Given the description of an element on the screen output the (x, y) to click on. 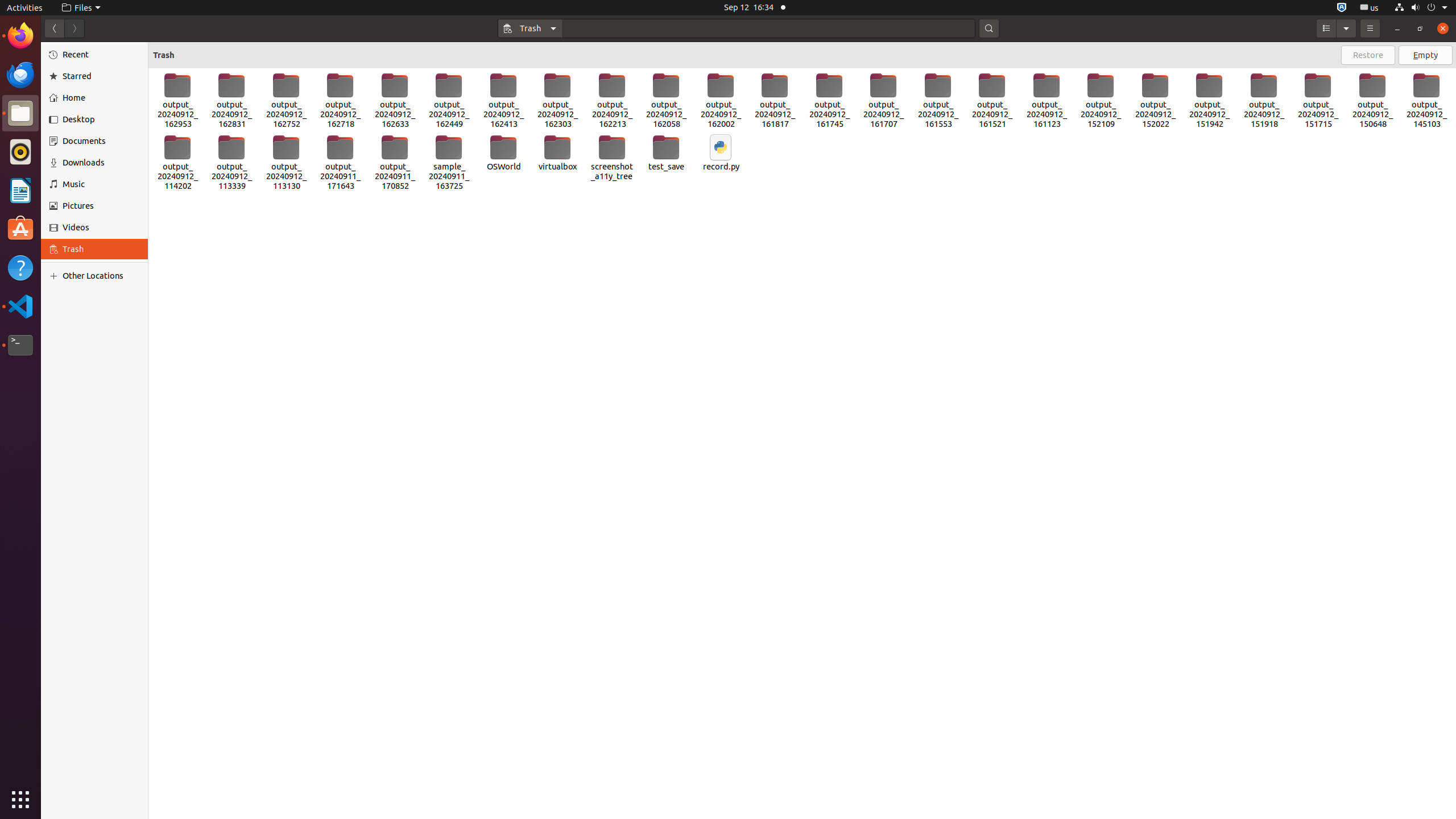
sample_20240911_163725 Element type: canvas (449, 162)
output_20240912_150648 Element type: canvas (1372, 100)
output_20240912_151715 Element type: canvas (1317, 100)
